Given the description of an element on the screen output the (x, y) to click on. 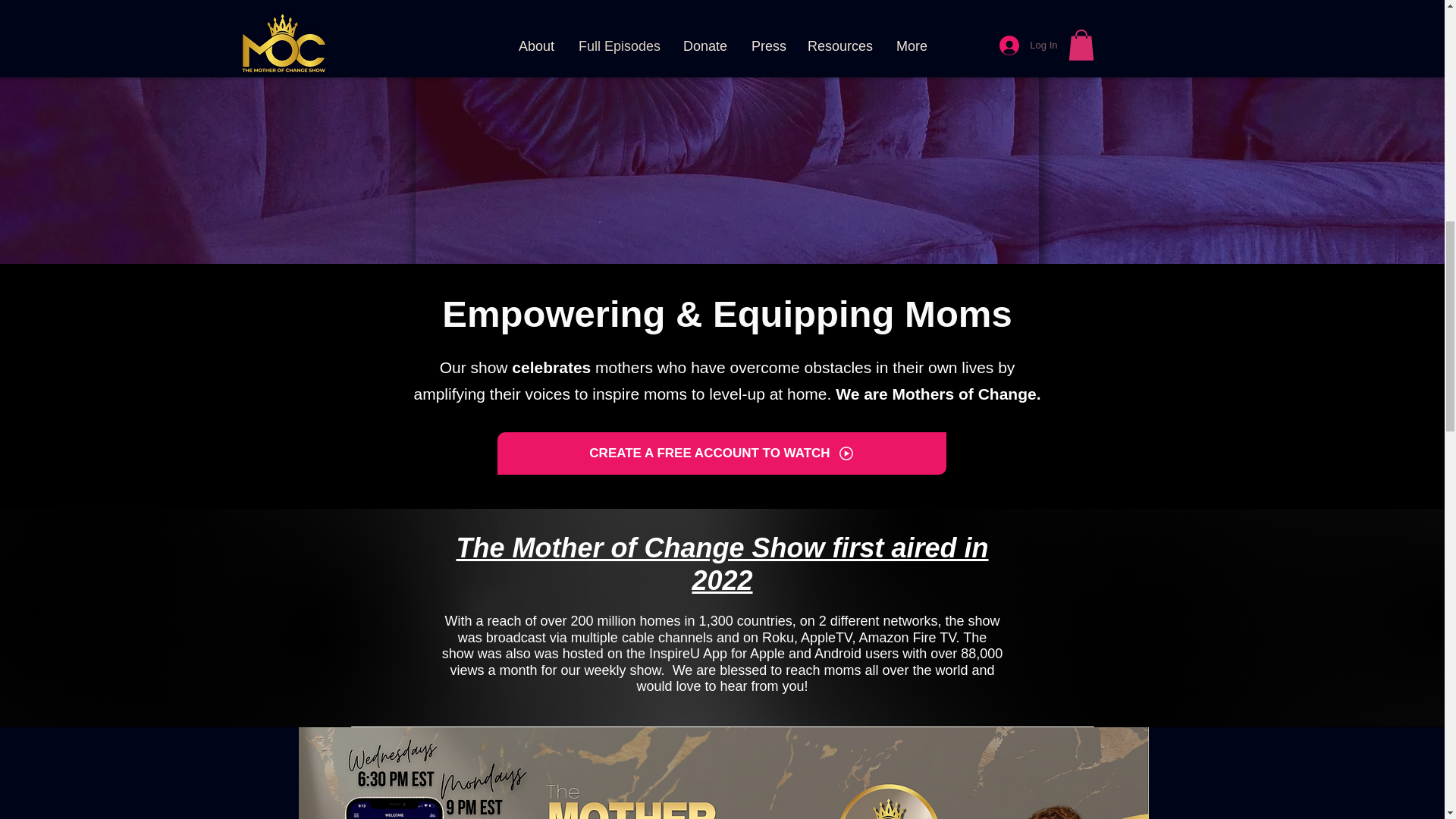
CREATE A FREE ACCOUNT TO WATCH (721, 453)
